Given the description of an element on the screen output the (x, y) to click on. 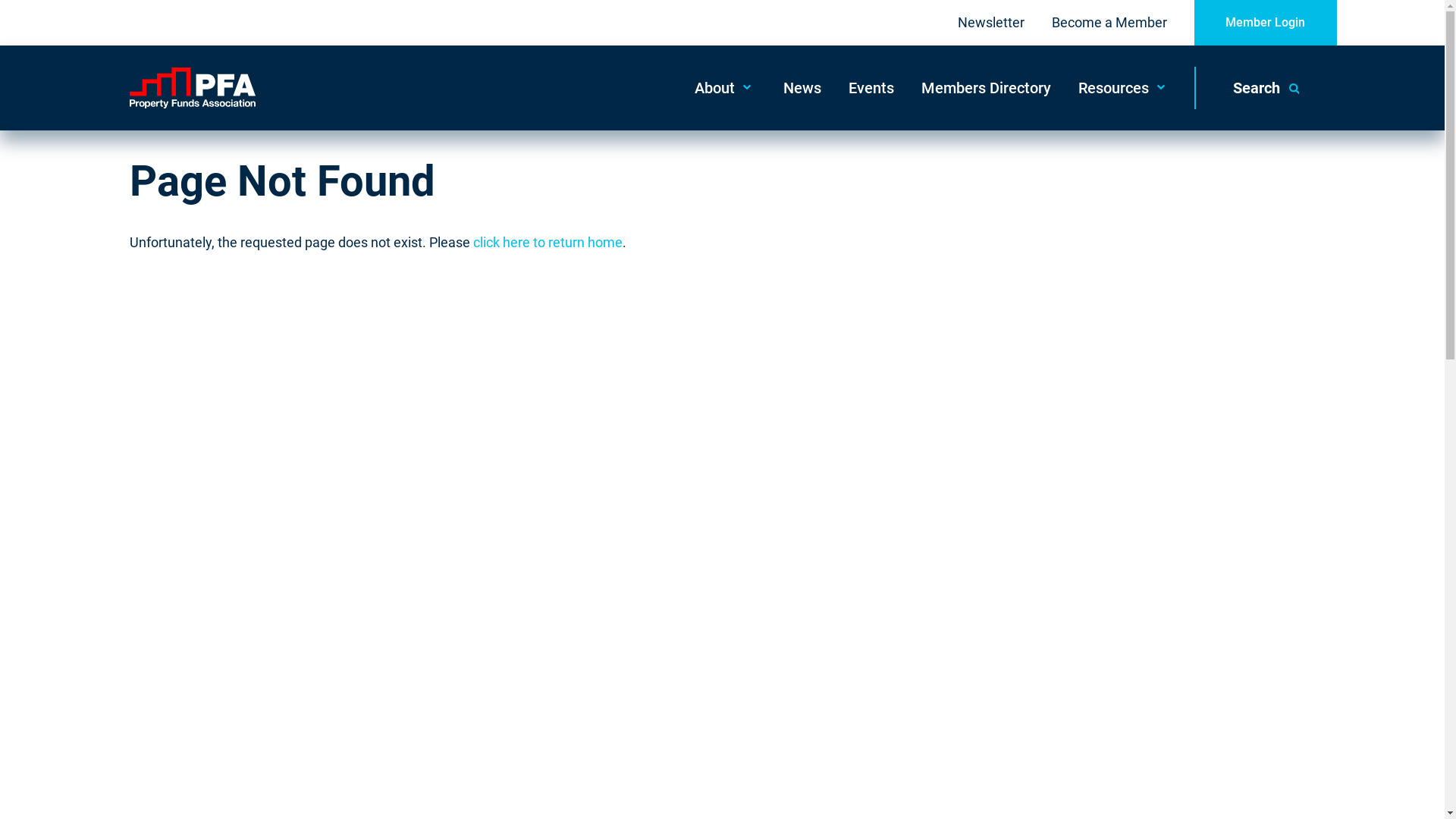
News Element type: text (801, 87)
Newsletter Element type: text (990, 22)
Become a Member Element type: text (1108, 22)
Search Element type: text (1264, 87)
About Element type: text (724, 87)
Members Directory Element type: text (984, 87)
Events Element type: text (870, 87)
Resources Element type: text (1123, 87)
Member Login Element type: text (1264, 22)
click here to return home Element type: text (547, 242)
